Given the description of an element on the screen output the (x, y) to click on. 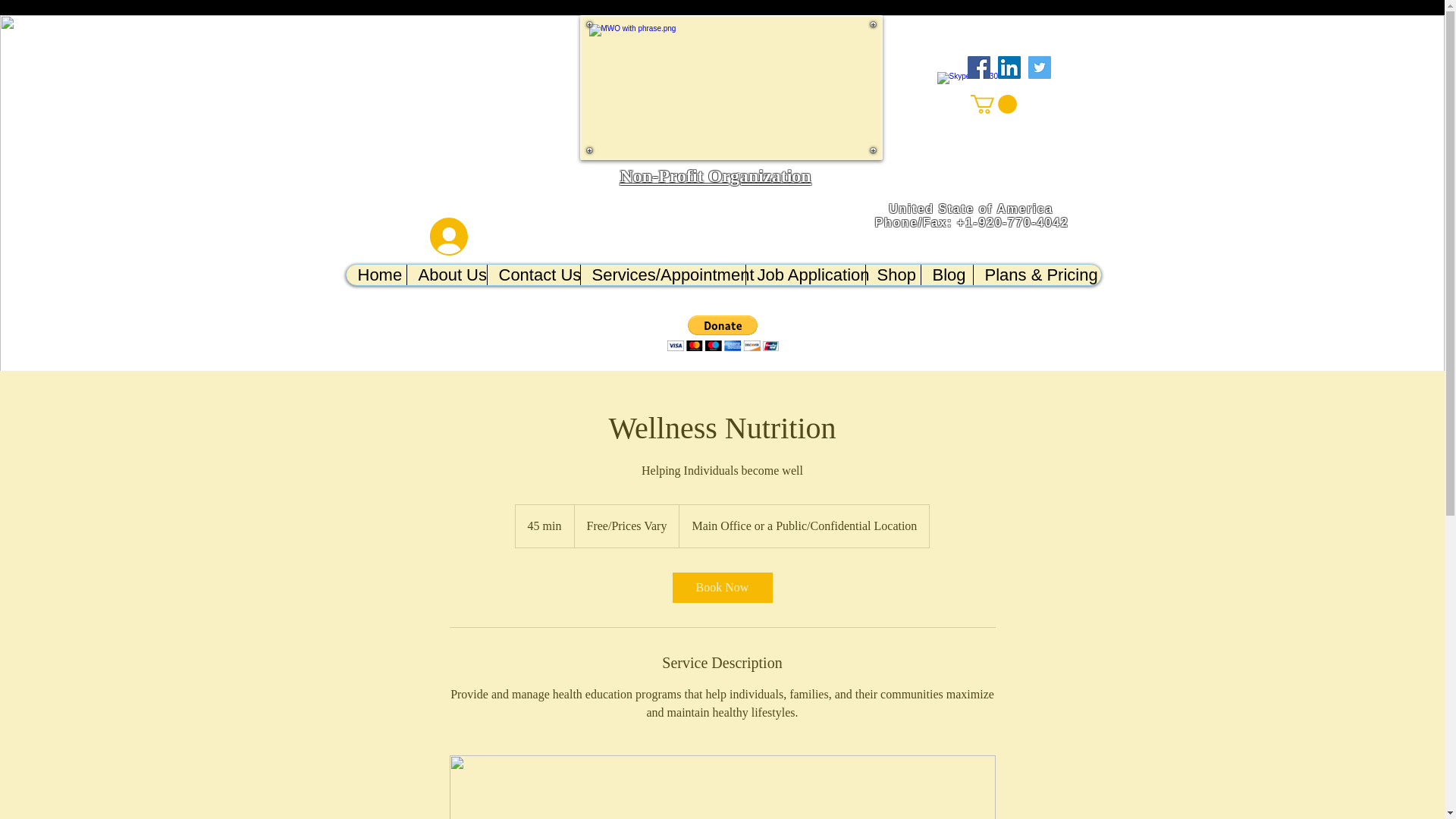
About Us (446, 274)
Book Now (721, 587)
Untitled (730, 87)
Log In (419, 236)
Shop (892, 274)
Job Application (804, 274)
Home (376, 274)
Contact Us (532, 274)
Blog (946, 274)
